Given the description of an element on the screen output the (x, y) to click on. 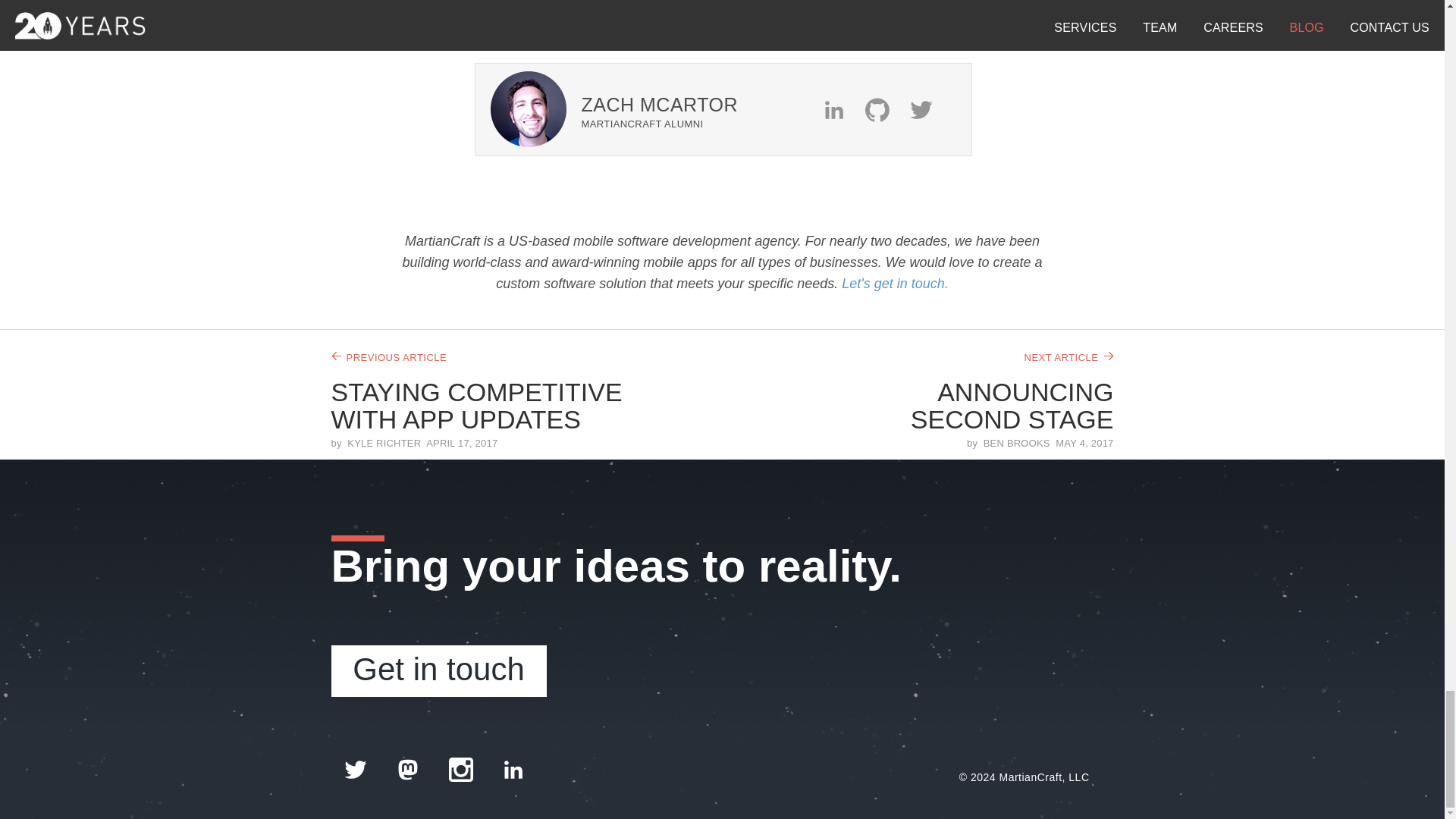
Get in touch (438, 670)
social-instagram (462, 768)
social-github (886, 109)
Let's get in touch. (895, 283)
social-instagram (460, 769)
social-github (884, 109)
